Given the description of an element on the screen output the (x, y) to click on. 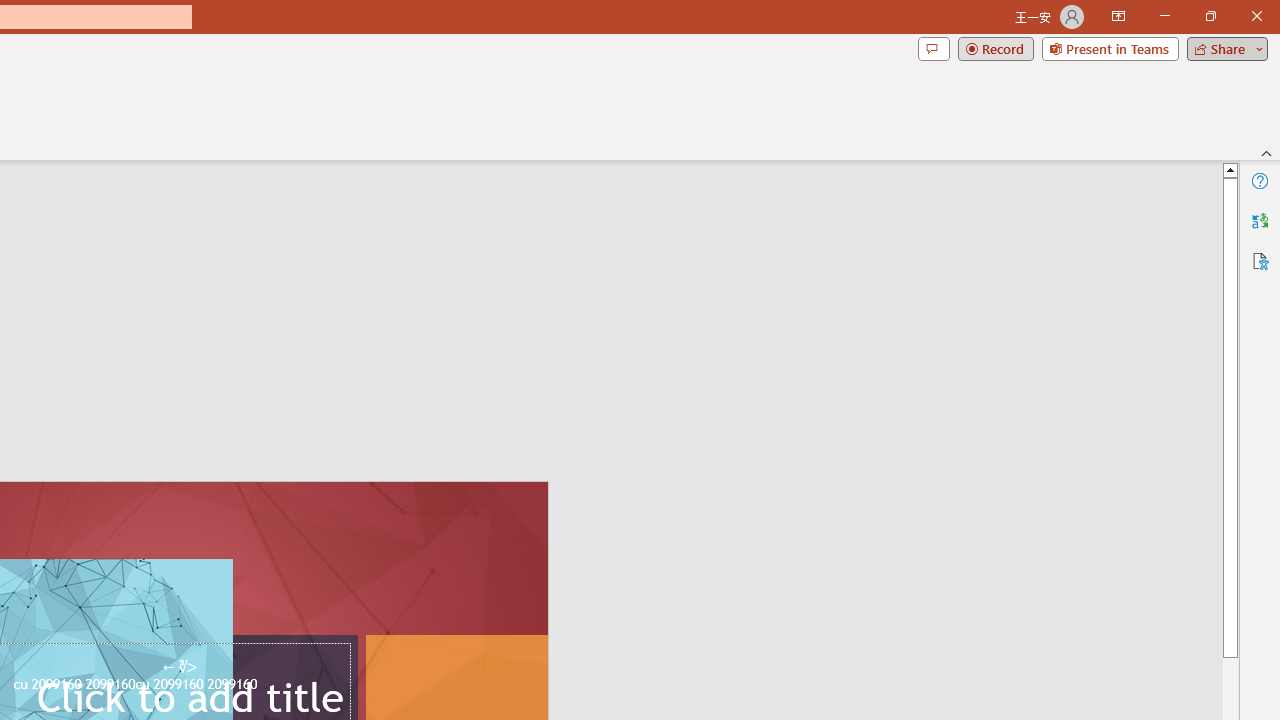
TextBox 61 (186, 686)
TextBox 7 (179, 667)
